Given the description of an element on the screen output the (x, y) to click on. 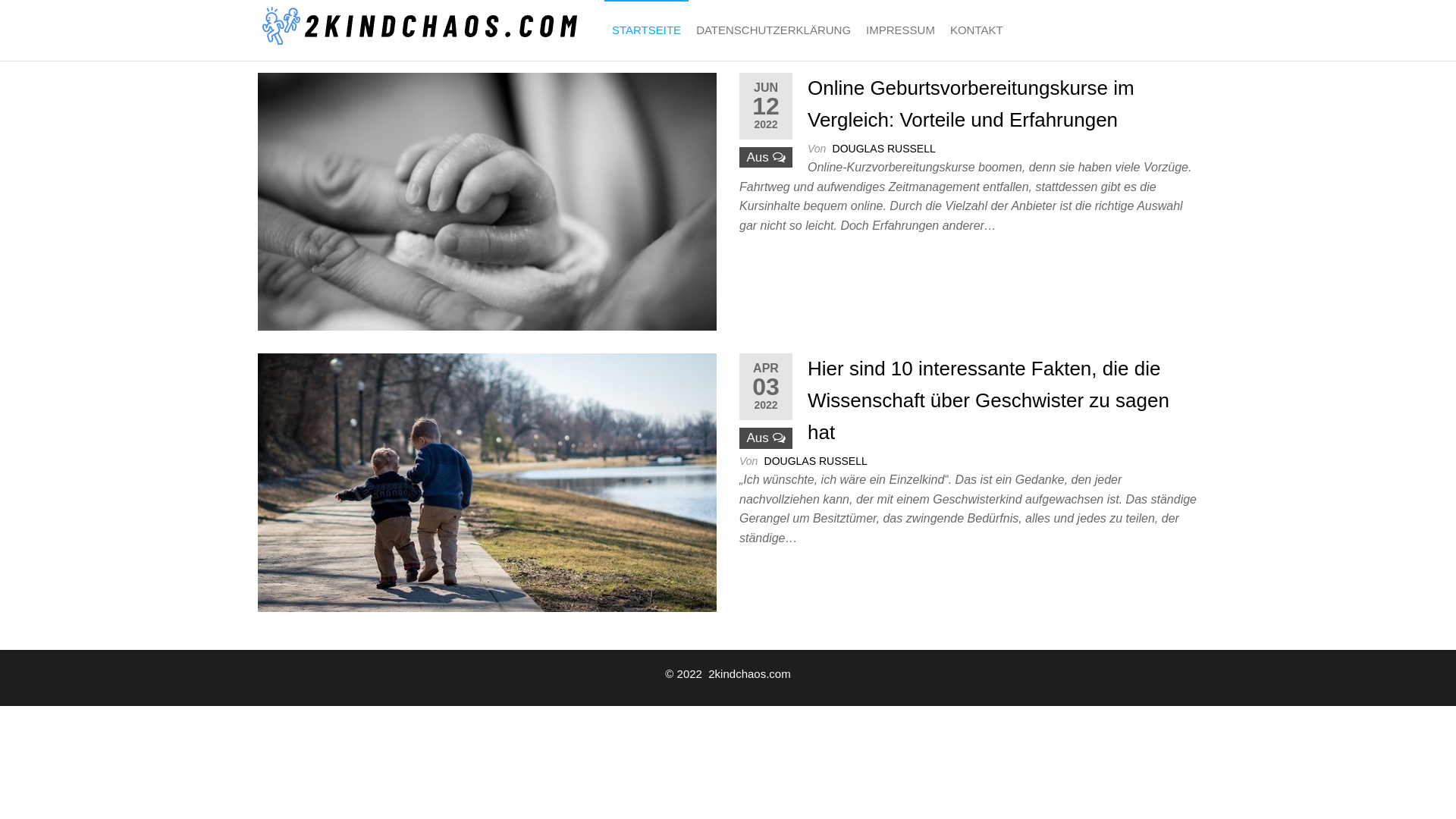
DOUGLAS RUSSELL Element type: text (883, 148)
KONTAKT Element type: text (976, 30)
STARTSEITE Element type: text (646, 30)
IMPRESSUM Element type: text (900, 30)
DOUGLAS RUSSELL Element type: text (815, 461)
2kindchaos.com Element type: text (676, 38)
